Given the description of an element on the screen output the (x, y) to click on. 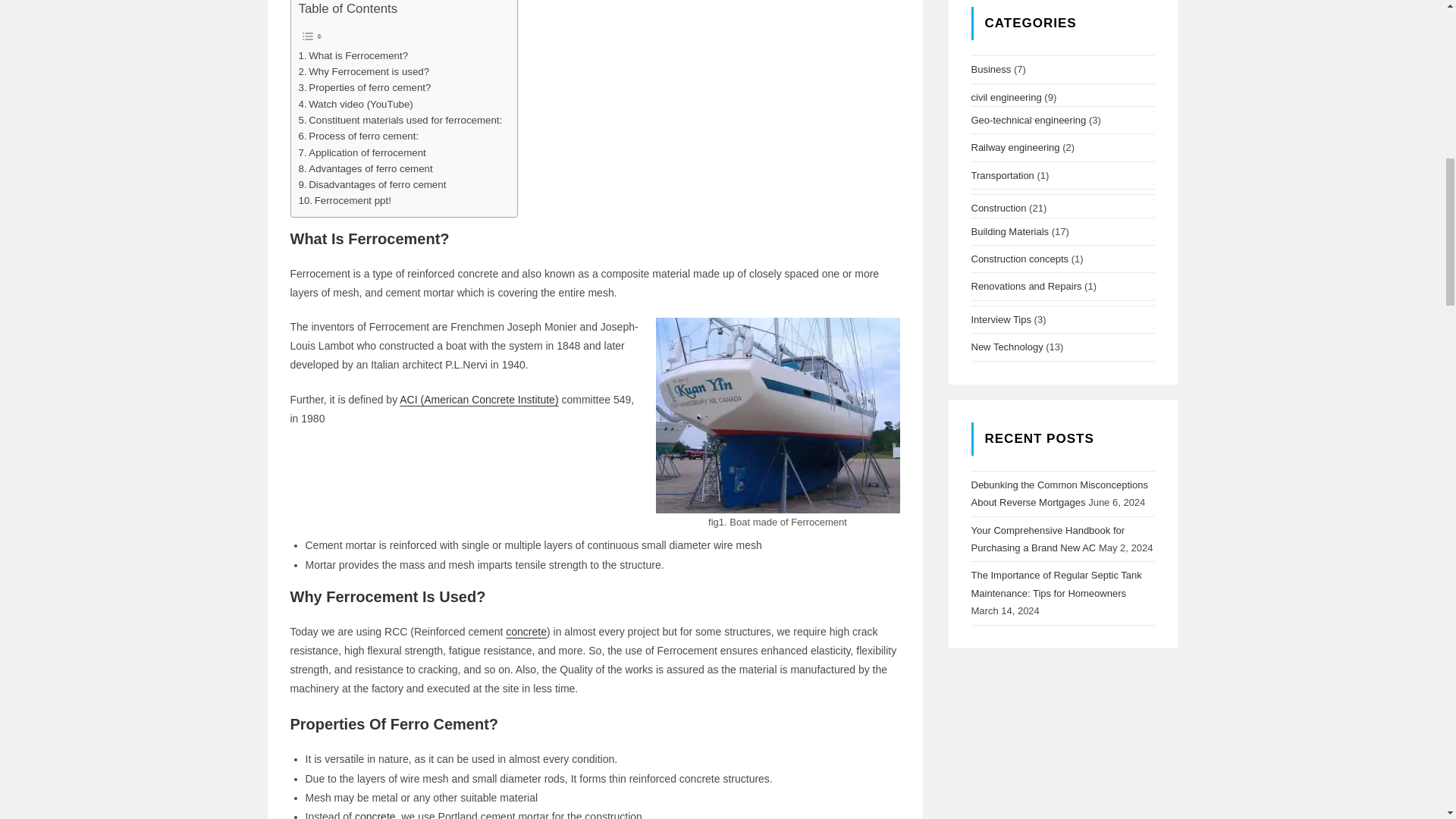
Constituent materials used for ferrocement: (400, 119)
Application of ferrocement (362, 151)
Advantages of ferro cement (365, 168)
Ferrocement ppt! (344, 200)
Application of ferrocement (362, 151)
Properties of ferro cement? (364, 87)
What is Ferrocement? (353, 55)
Advantages of ferro cement (365, 168)
Properties of ferro cement? (364, 87)
Process of ferro cement: (358, 135)
Process of ferro cement: (358, 135)
Disadvantages of ferro cement (372, 184)
Constituent materials used for ferrocement: (400, 119)
Why Ferrocement is used?   (366, 71)
